Given the description of an element on the screen output the (x, y) to click on. 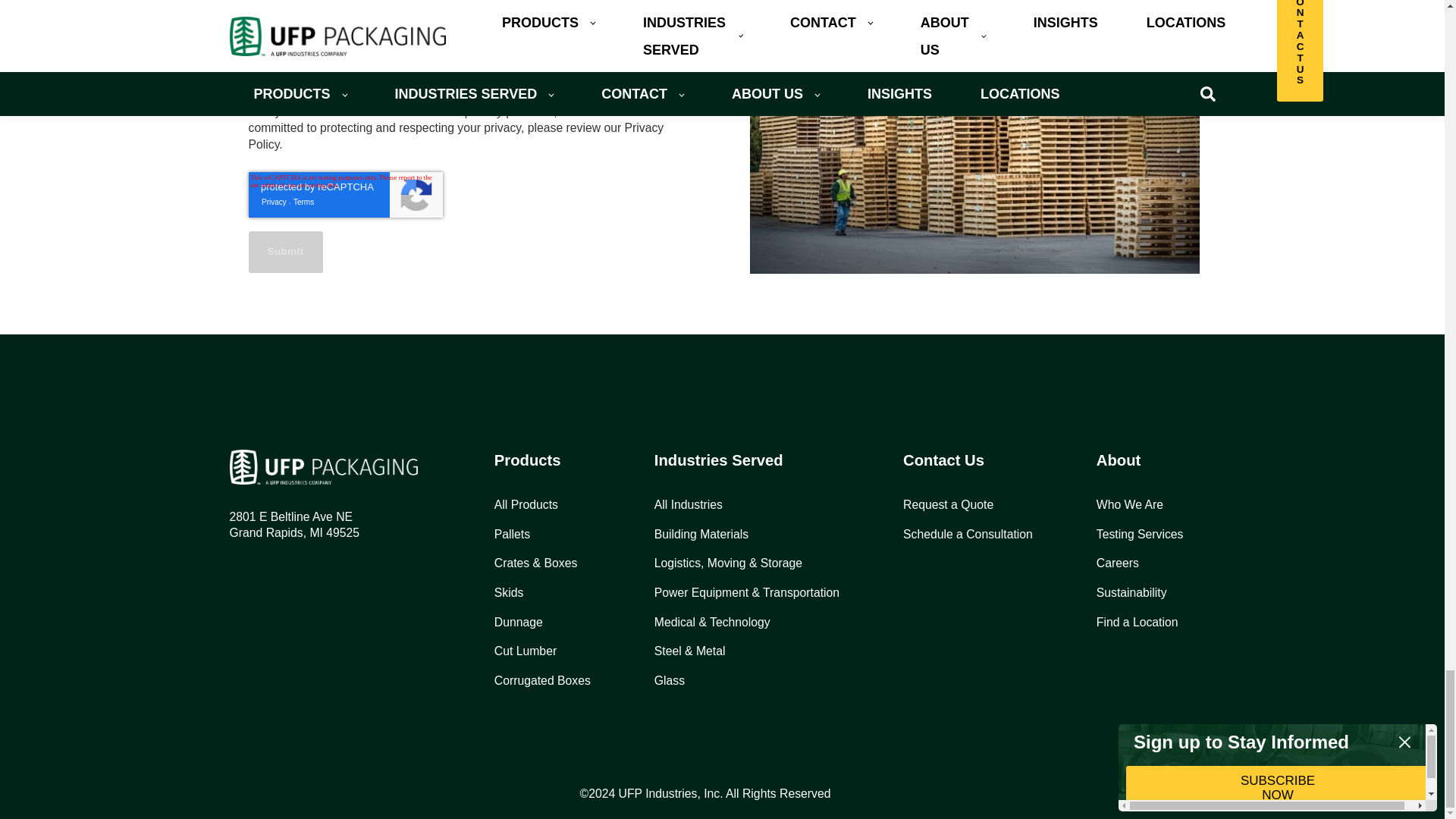
reCAPTCHA (345, 194)
true (253, 32)
Submit (285, 251)
